Given the description of an element on the screen output the (x, y) to click on. 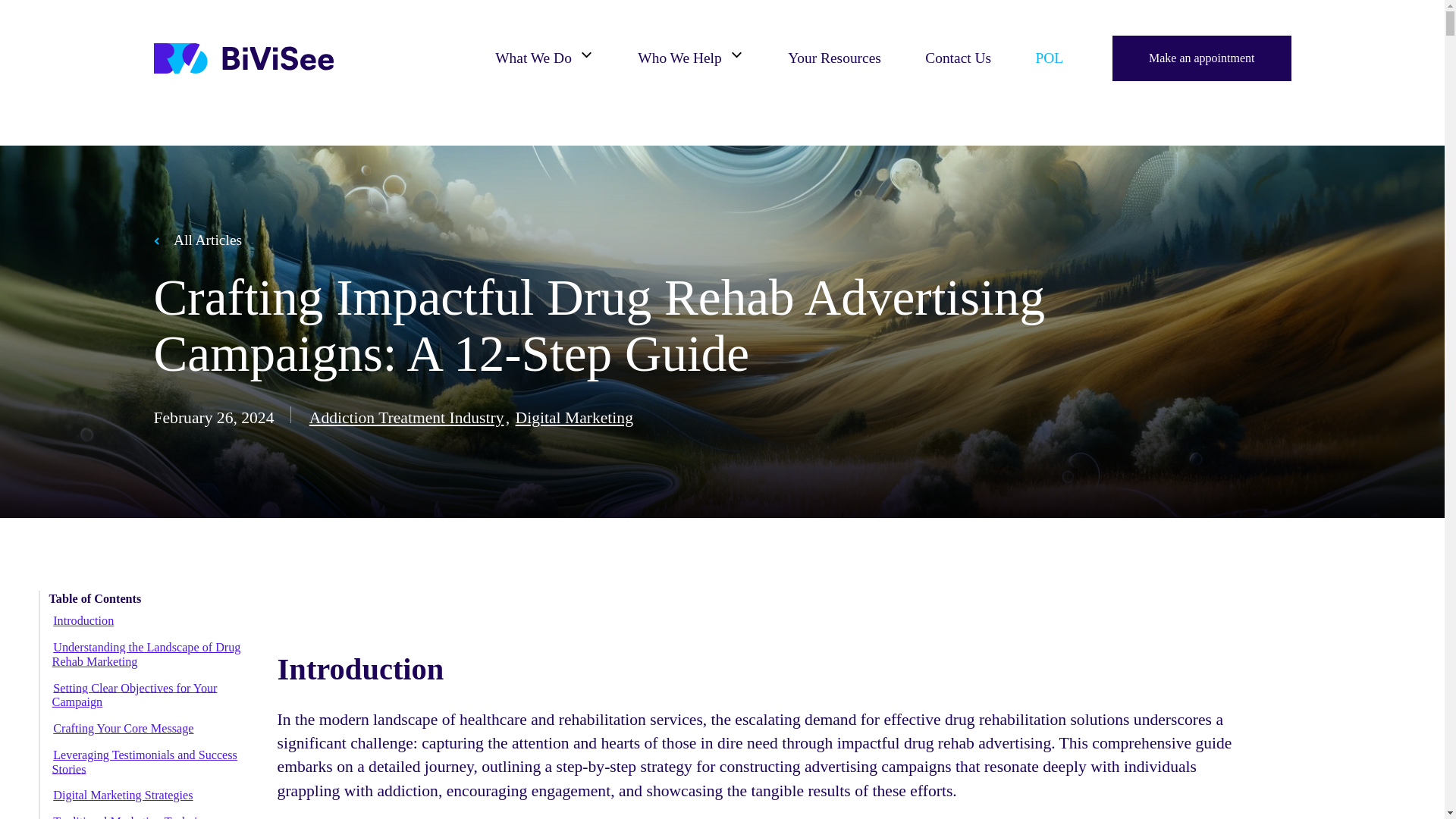
Your Resources (833, 57)
POL (1048, 57)
All Articles (196, 239)
What We Do (544, 57)
Leveraging Testimonials and Success Stories (144, 761)
Understanding the Landscape of Drug Rehab Marketing (146, 654)
Digital Marketing Strategies (123, 795)
BiViSee (242, 58)
Traditional Marketing Techniques (136, 816)
Setting Clear Objectives for Your Campaign (134, 695)
Crafting Your Core Message (123, 728)
Contact Us (957, 57)
Addiction Treatment Industry (406, 417)
Digital Marketing (573, 417)
Who We Help (690, 57)
